Given the description of an element on the screen output the (x, y) to click on. 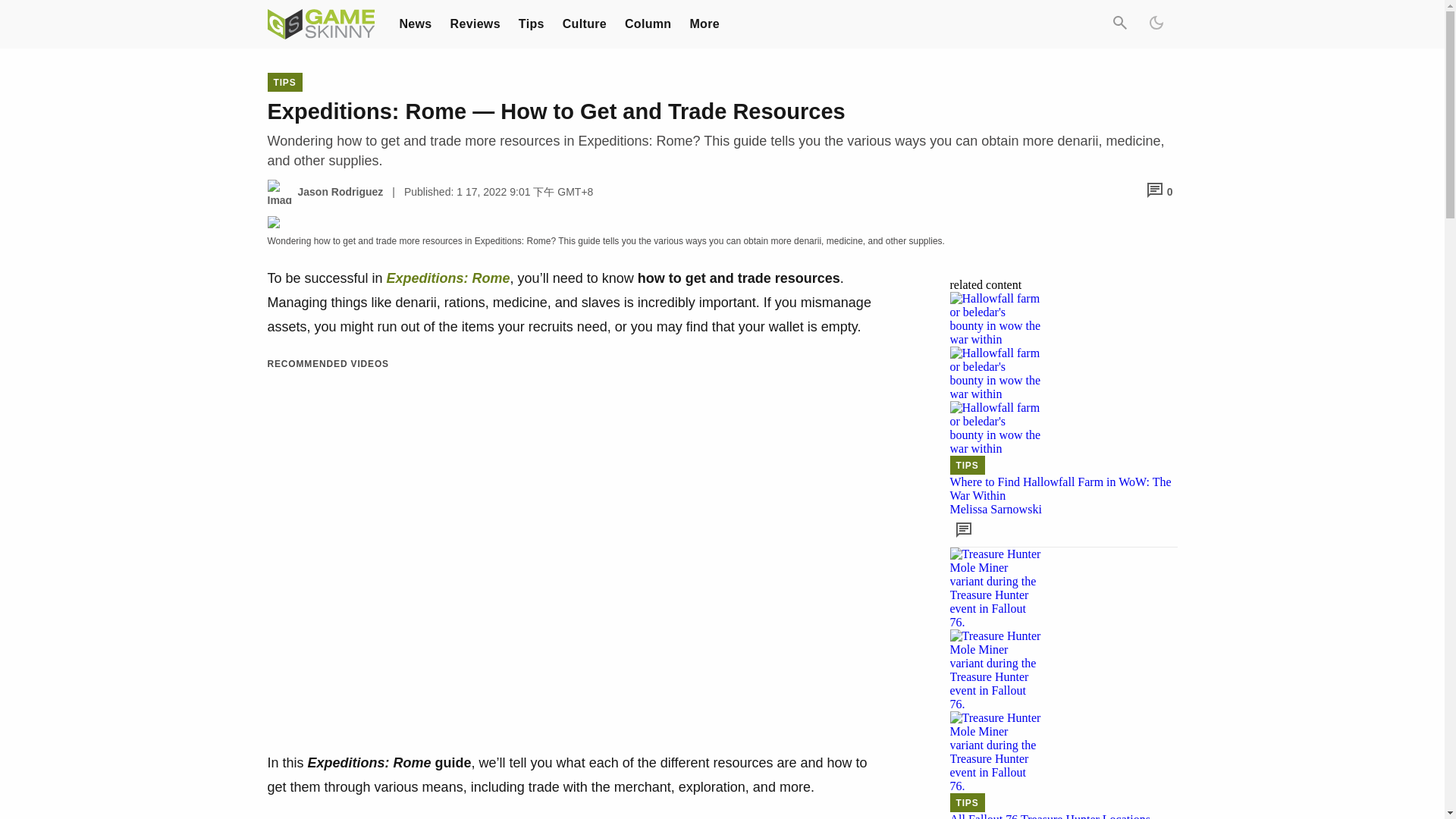
Culture (584, 23)
News (414, 23)
Tips (531, 23)
Reviews (474, 23)
Column (647, 23)
Dark Mode (1155, 23)
Search (1118, 23)
